Given the description of an element on the screen output the (x, y) to click on. 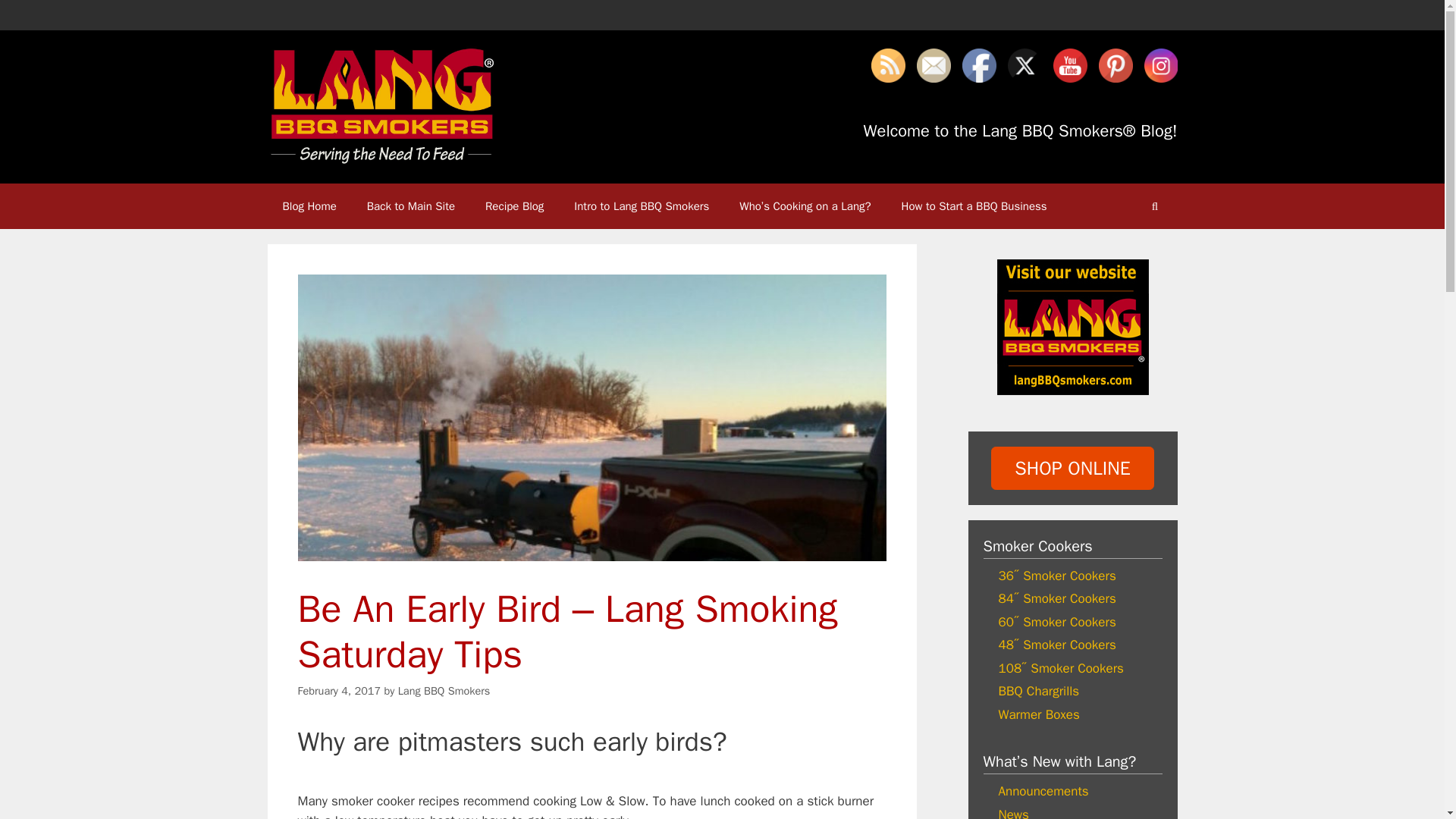
Announcements (1042, 790)
Back to Main Site (411, 206)
Facebook (977, 65)
Twitter (1024, 65)
News (1012, 812)
View all posts by Lang BBQ Smokers (443, 690)
Lang BBQ Smokers (443, 690)
BBQ Chargrills (1037, 691)
RSS (887, 65)
SHOP ONLINE (1072, 467)
How to Start a BBQ Business (974, 206)
YouTube (1069, 65)
Recipe Blog (514, 206)
Instagram (1159, 65)
Intro to Lang BBQ Smokers (641, 206)
